Given the description of an element on the screen output the (x, y) to click on. 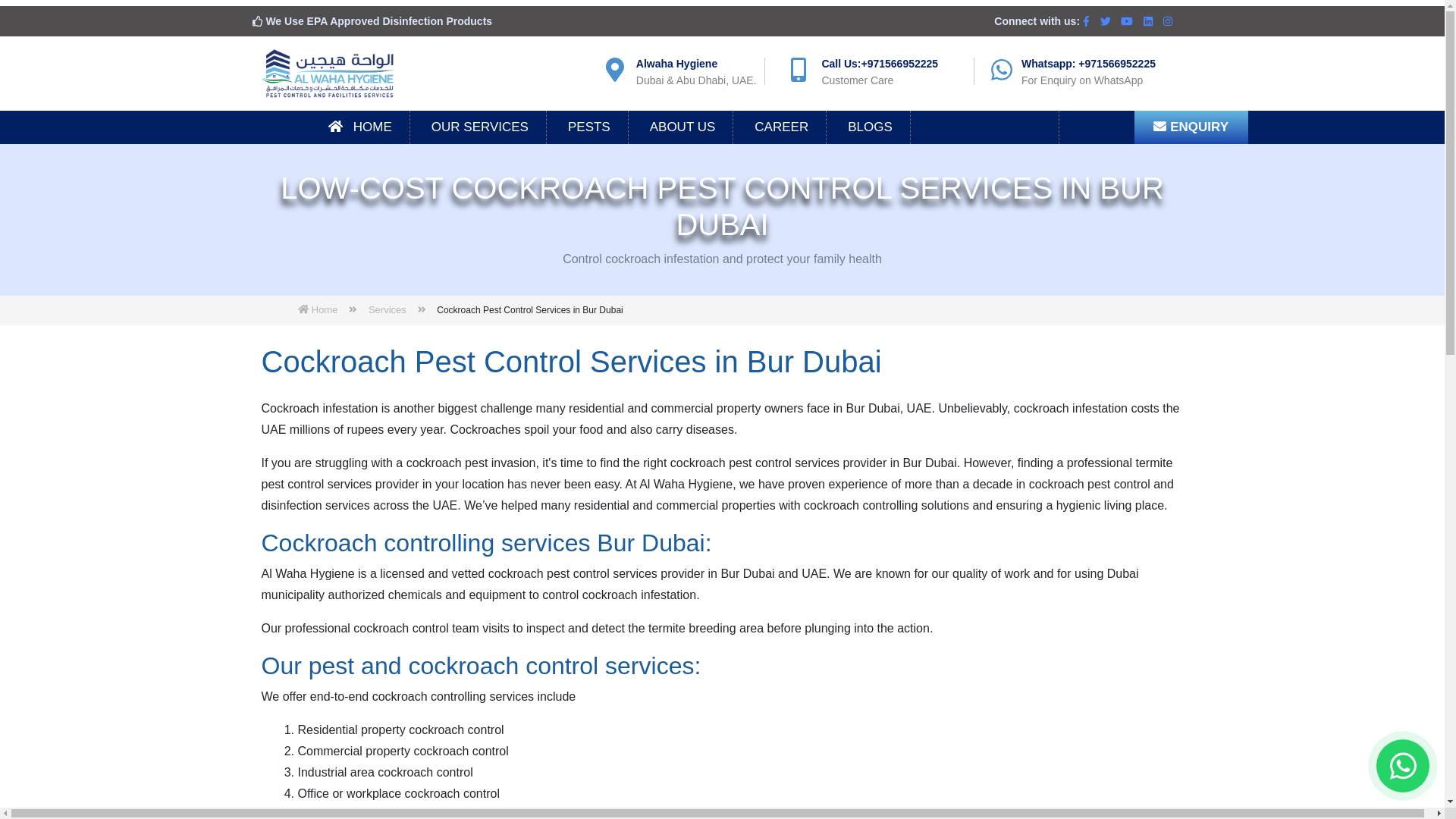
ENQUIRY (1190, 127)
  HOME (360, 127)
ABOUT US (682, 127)
OUR SERVICES (480, 127)
PESTS (589, 127)
BLOGS (870, 127)
CAREER (781, 127)
Home (317, 309)
Services (387, 309)
